Given the description of an element on the screen output the (x, y) to click on. 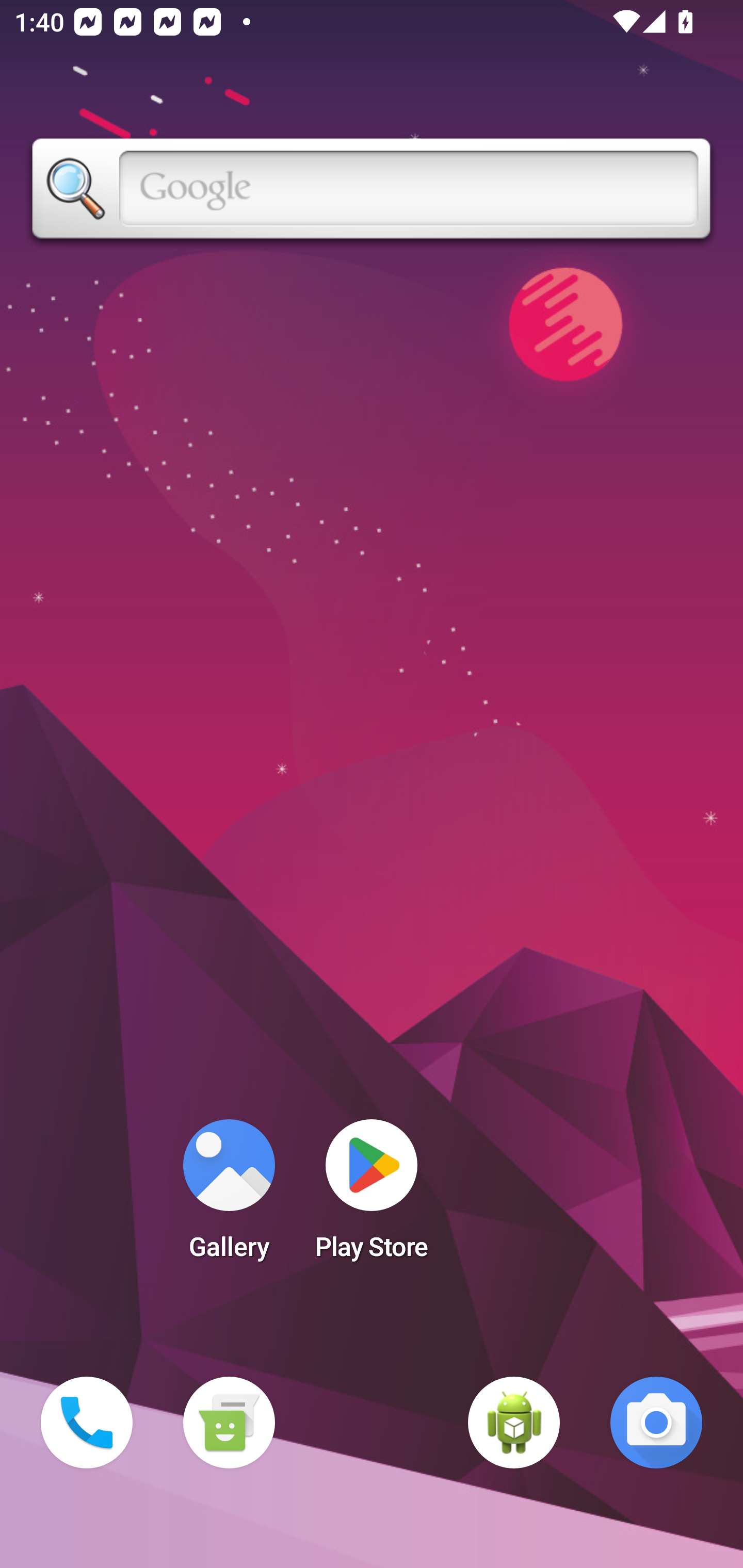
Gallery (228, 1195)
Play Store (371, 1195)
Phone (86, 1422)
Messaging (228, 1422)
WebView Browser Tester (513, 1422)
Camera (656, 1422)
